Given the description of an element on the screen output the (x, y) to click on. 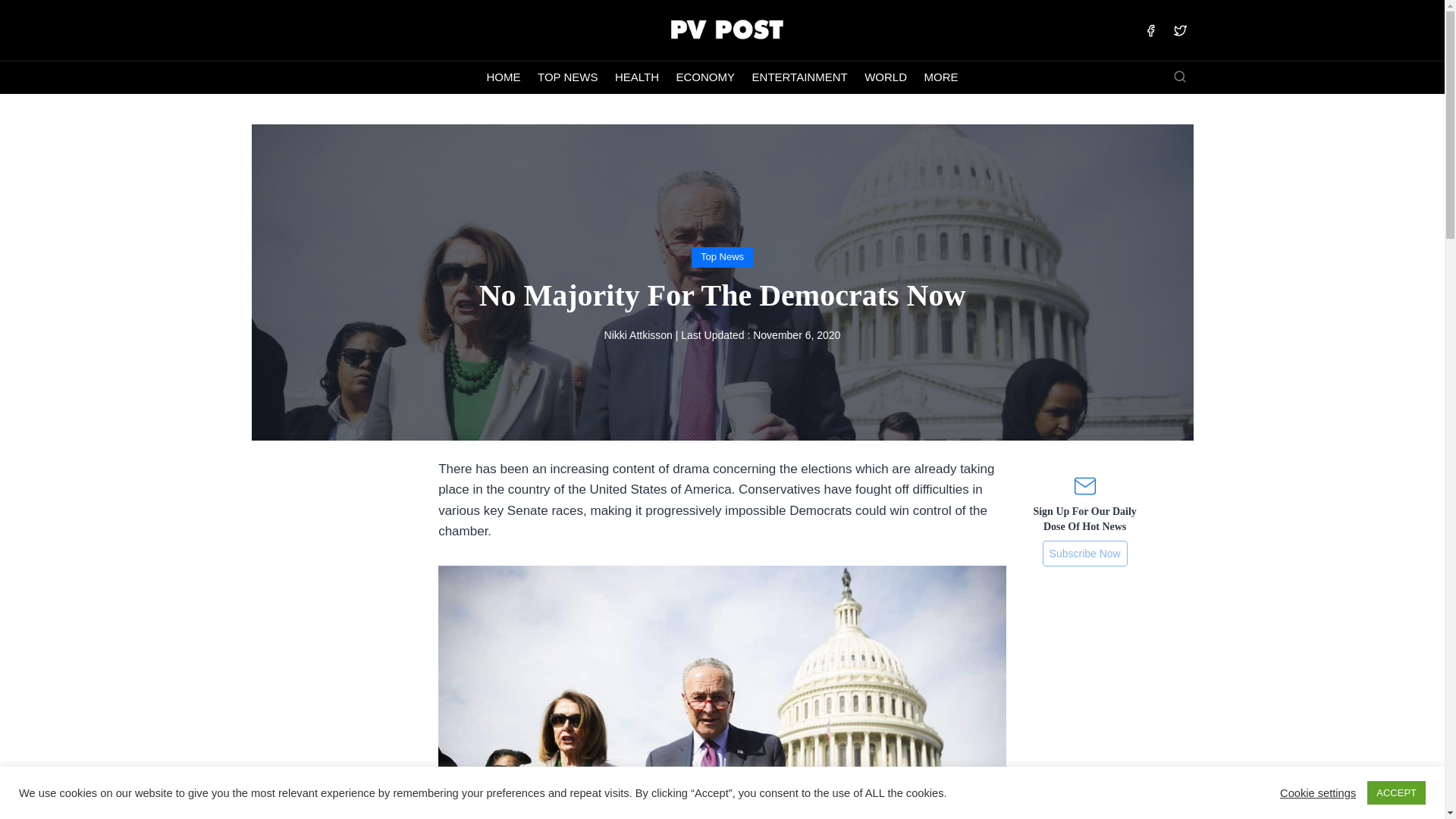
TOP NEWS (568, 77)
ACCEPT (1396, 792)
WORLD (885, 77)
HOME (503, 77)
ECONOMY (704, 77)
Subscribe Now (1084, 553)
Cookie settings (1317, 792)
ENTERTAINMENT (799, 77)
HEALTH (637, 77)
Top News (722, 256)
MORE (940, 77)
